Given the description of an element on the screen output the (x, y) to click on. 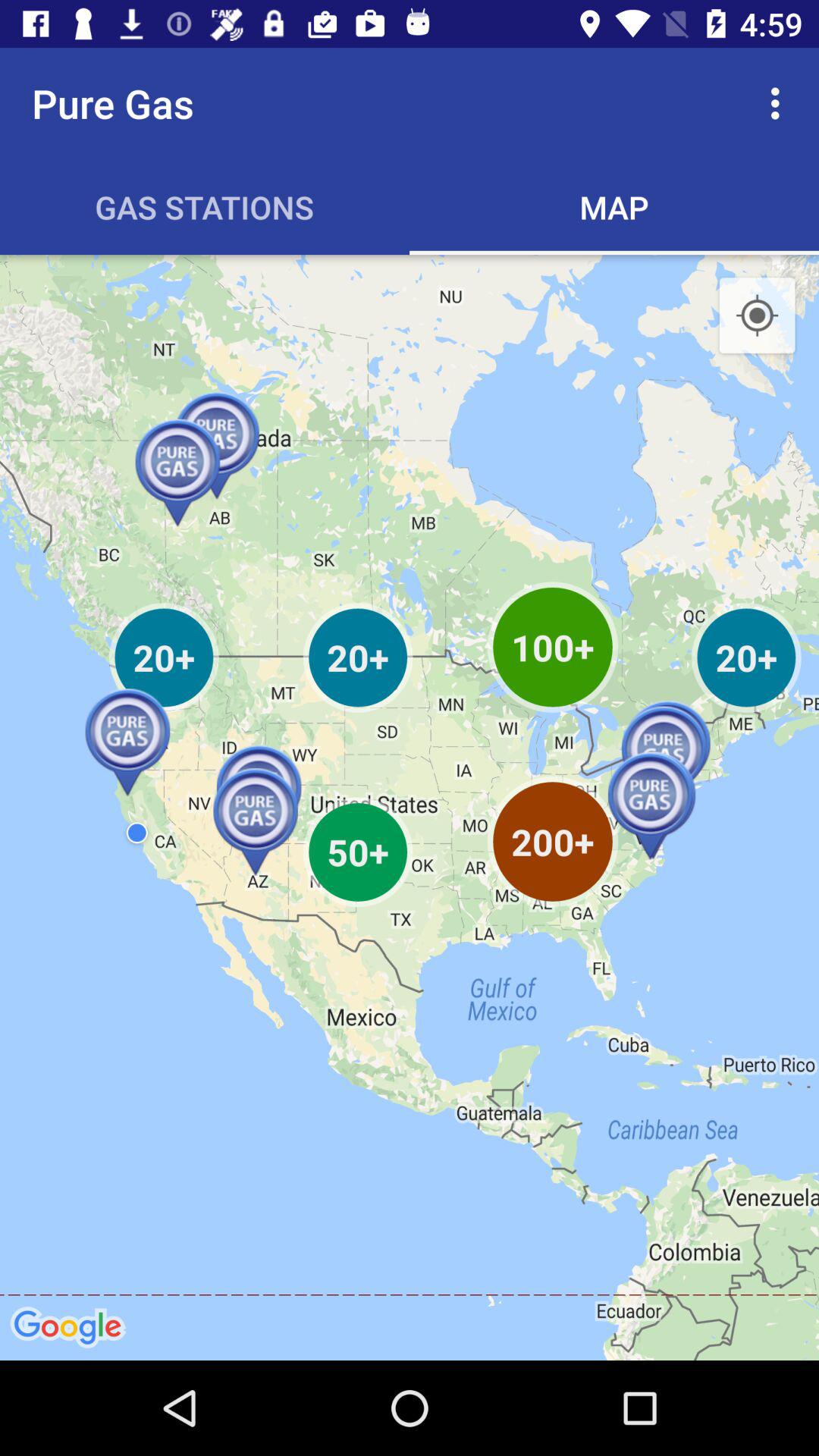
select the icon below the gas stations (409, 807)
